Given the description of an element on the screen output the (x, y) to click on. 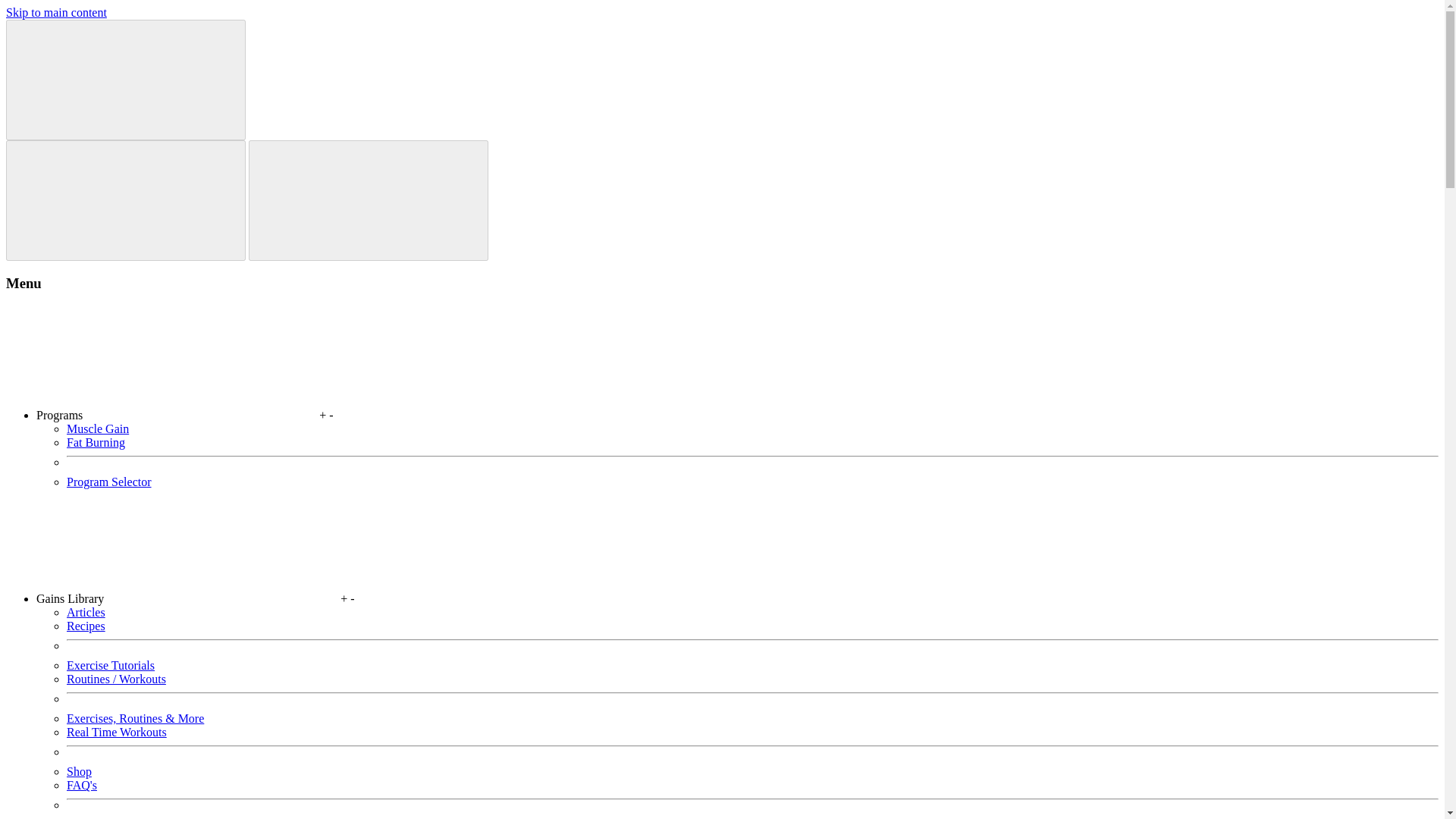
Skip to main content (55, 11)
Real Time Workouts (116, 731)
Coaching (89, 818)
Recipes (85, 625)
FAQ's (81, 784)
Program Selector (108, 481)
Muscle Gain (97, 428)
Fat Burning (95, 441)
Articles (85, 612)
Exercise Tutorials (110, 665)
Shop (78, 771)
